Given the description of an element on the screen output the (x, y) to click on. 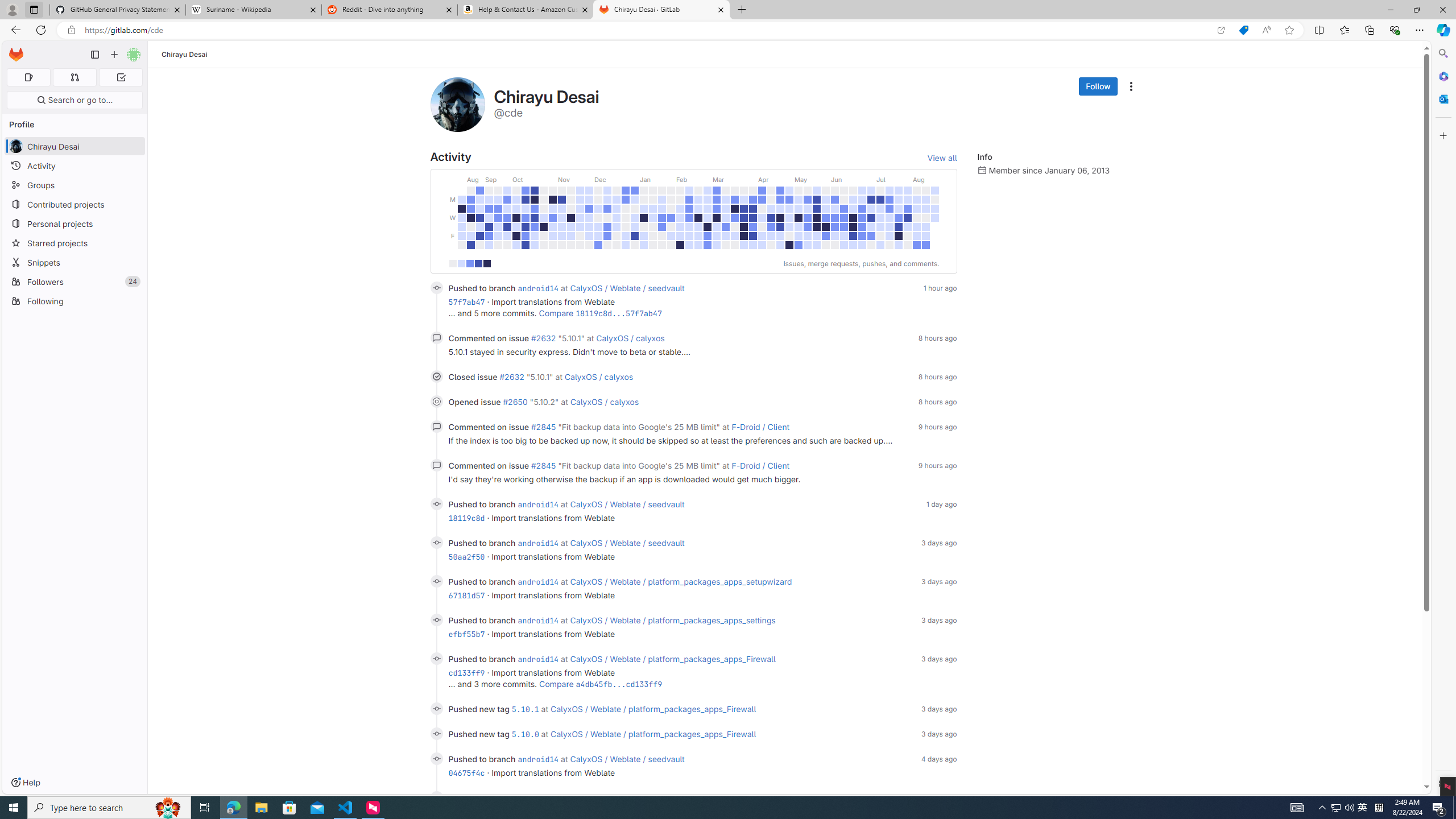
efbf55b7 (466, 633)
Class: s14 (436, 796)
User profile picture (456, 103)
Primary navigation sidebar (94, 54)
Contributed projects (74, 203)
